Given the description of an element on the screen output the (x, y) to click on. 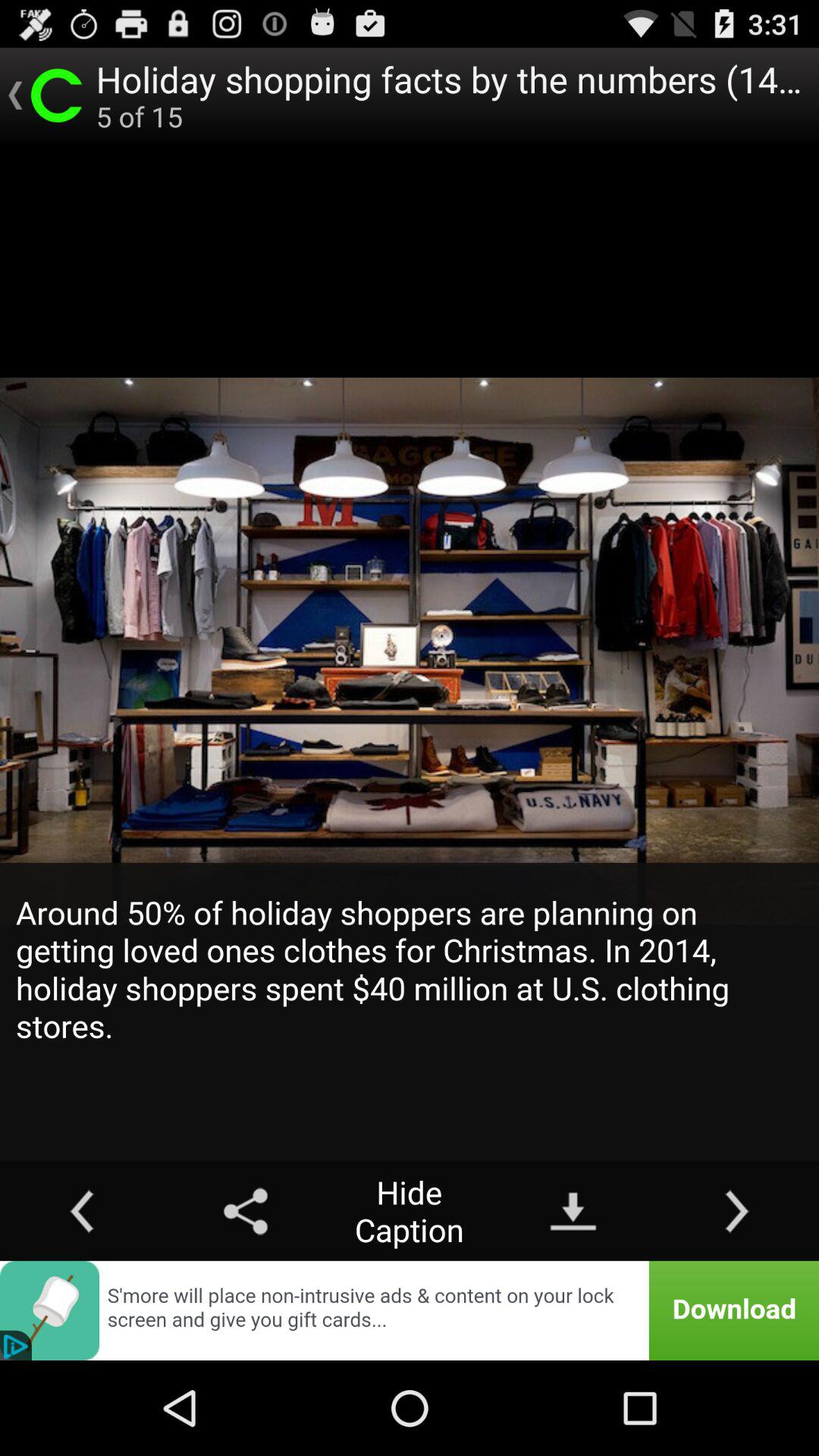
toggle advertisement (409, 1310)
